Given the description of an element on the screen output the (x, y) to click on. 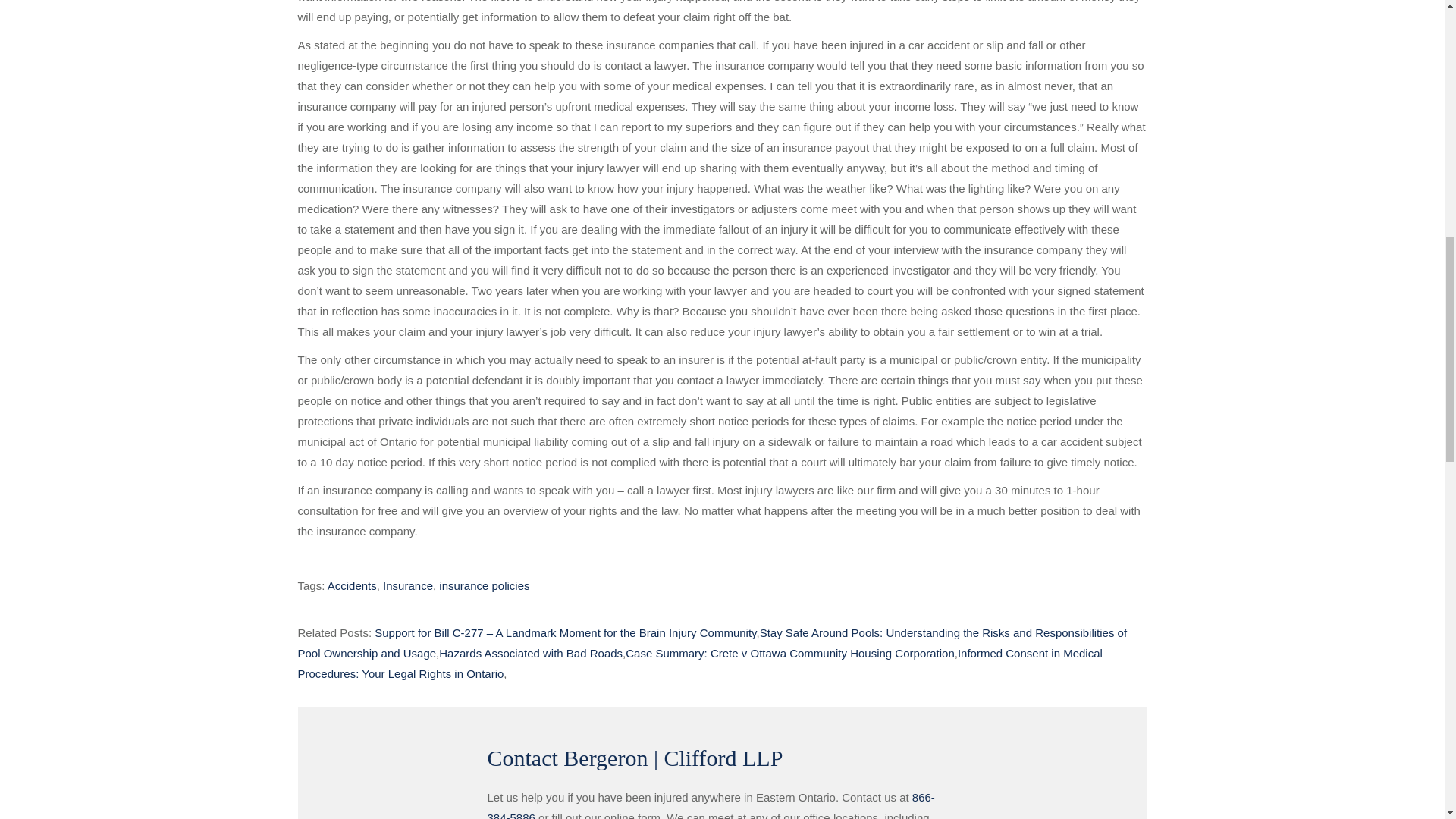
Permanent Link to Hazards Associated with Bad Roads (531, 653)
